Given the description of an element on the screen output the (x, y) to click on. 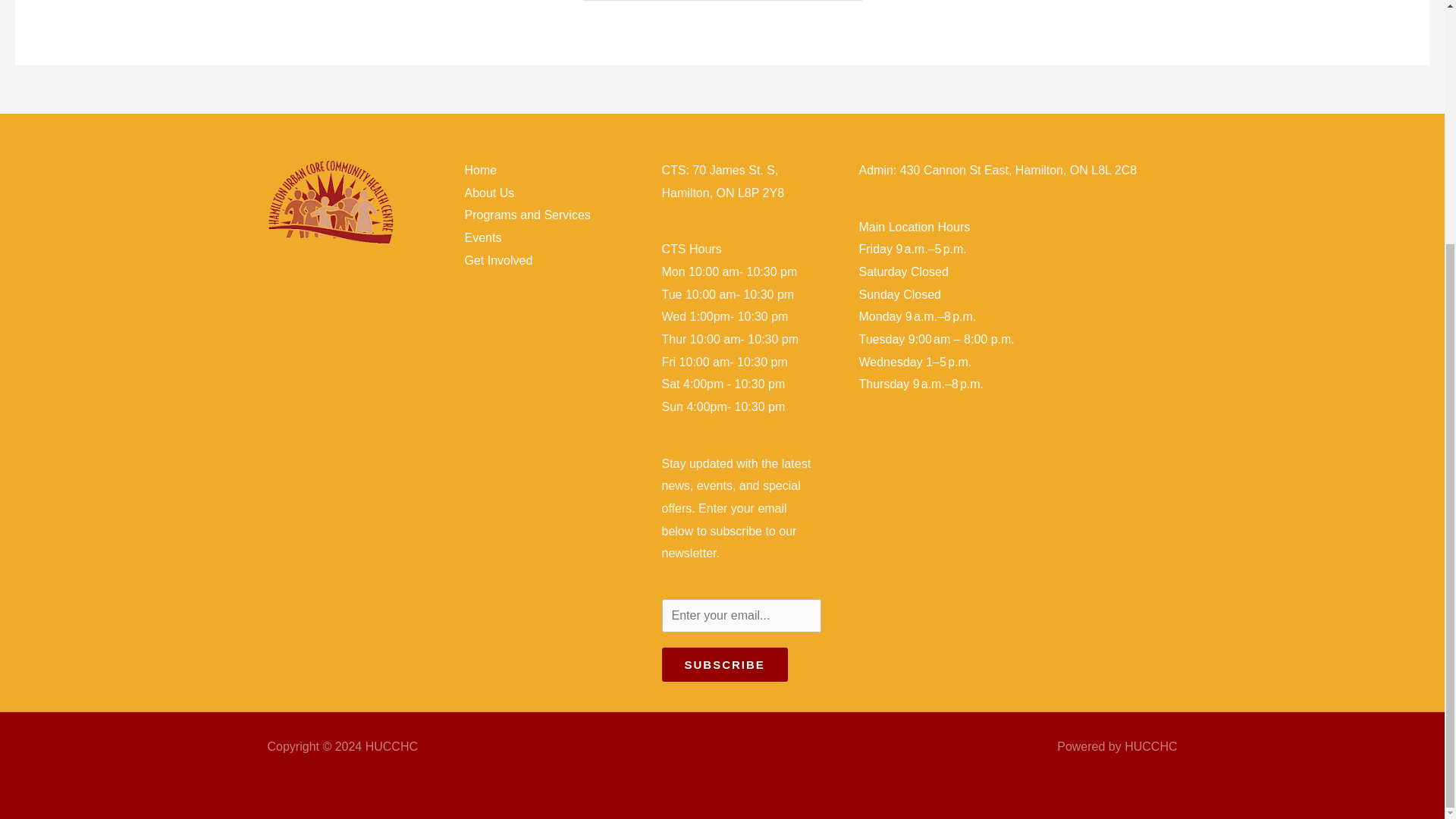
Get Involved (498, 259)
Programs and Services (526, 214)
Home (480, 169)
Search (844, 2)
About Us (488, 192)
SUBSCRIBE (724, 664)
Search (844, 2)
Events (482, 237)
Search (844, 2)
